Given the description of an element on the screen output the (x, y) to click on. 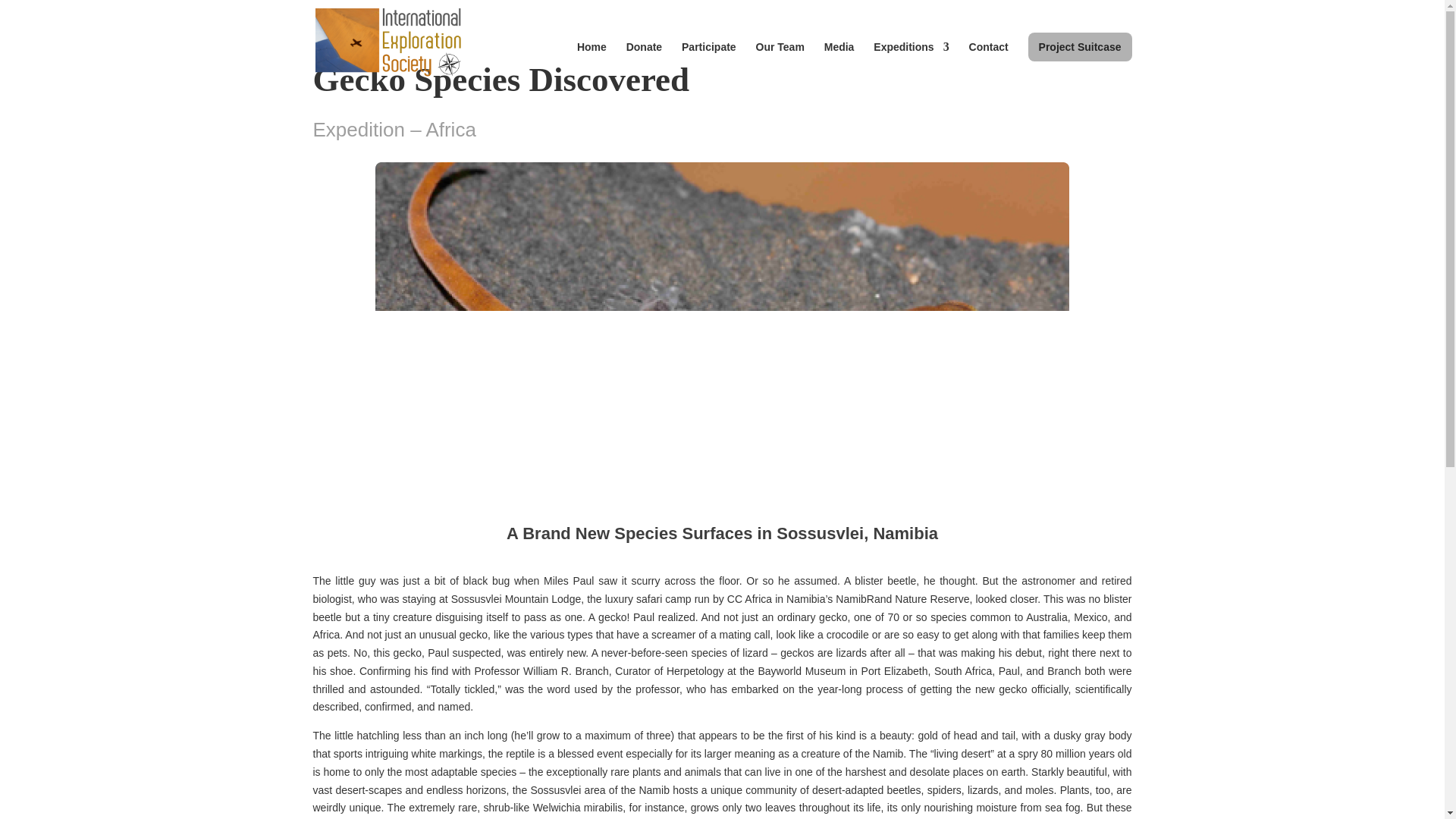
Expeditions (911, 63)
Our Team (780, 63)
Participate (708, 63)
Contact (989, 63)
Project Suitcase (1079, 46)
